Given the description of an element on the screen output the (x, y) to click on. 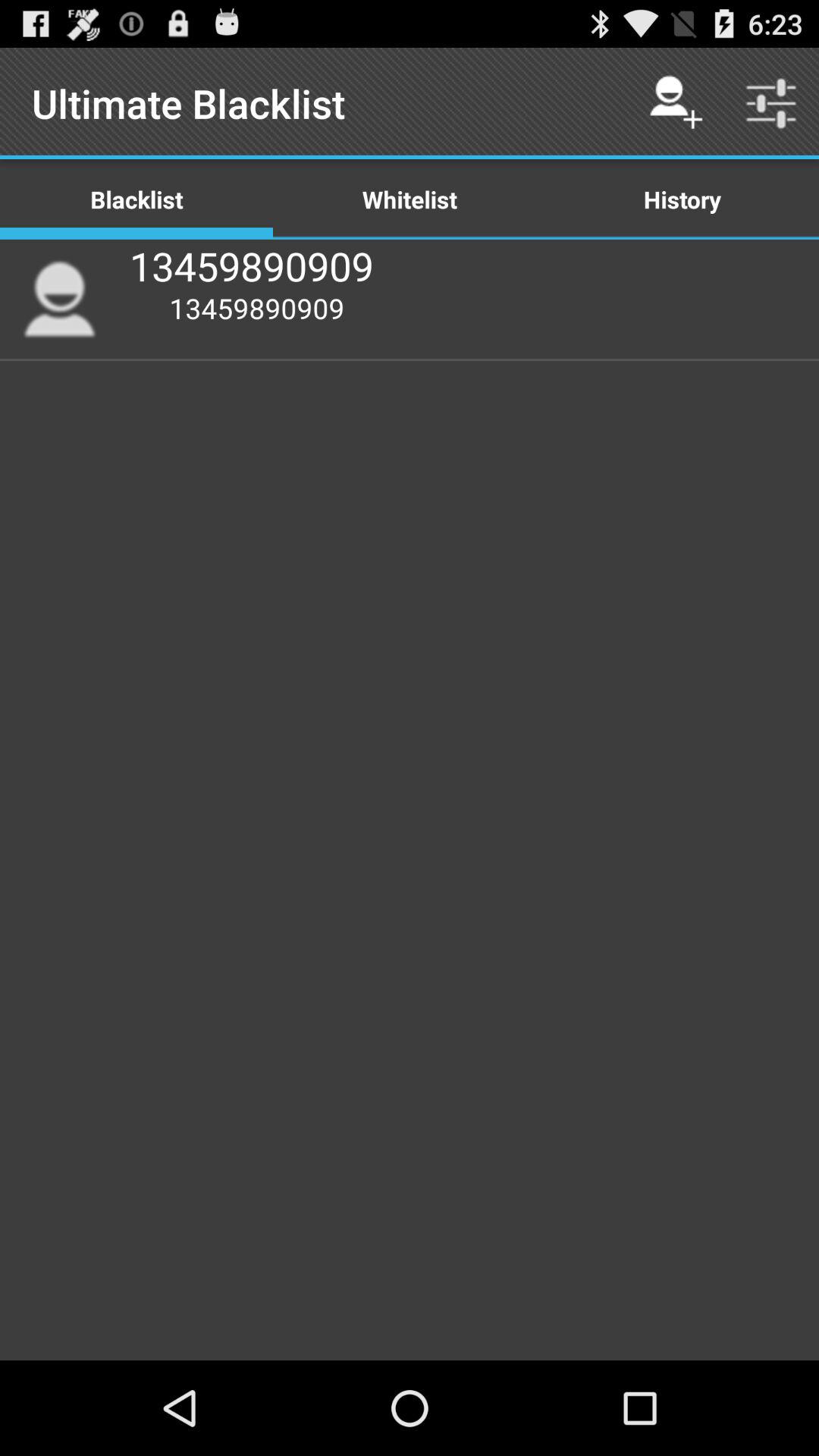
select the icon below the ultimate blacklist (409, 199)
